Given the description of an element on the screen output the (x, y) to click on. 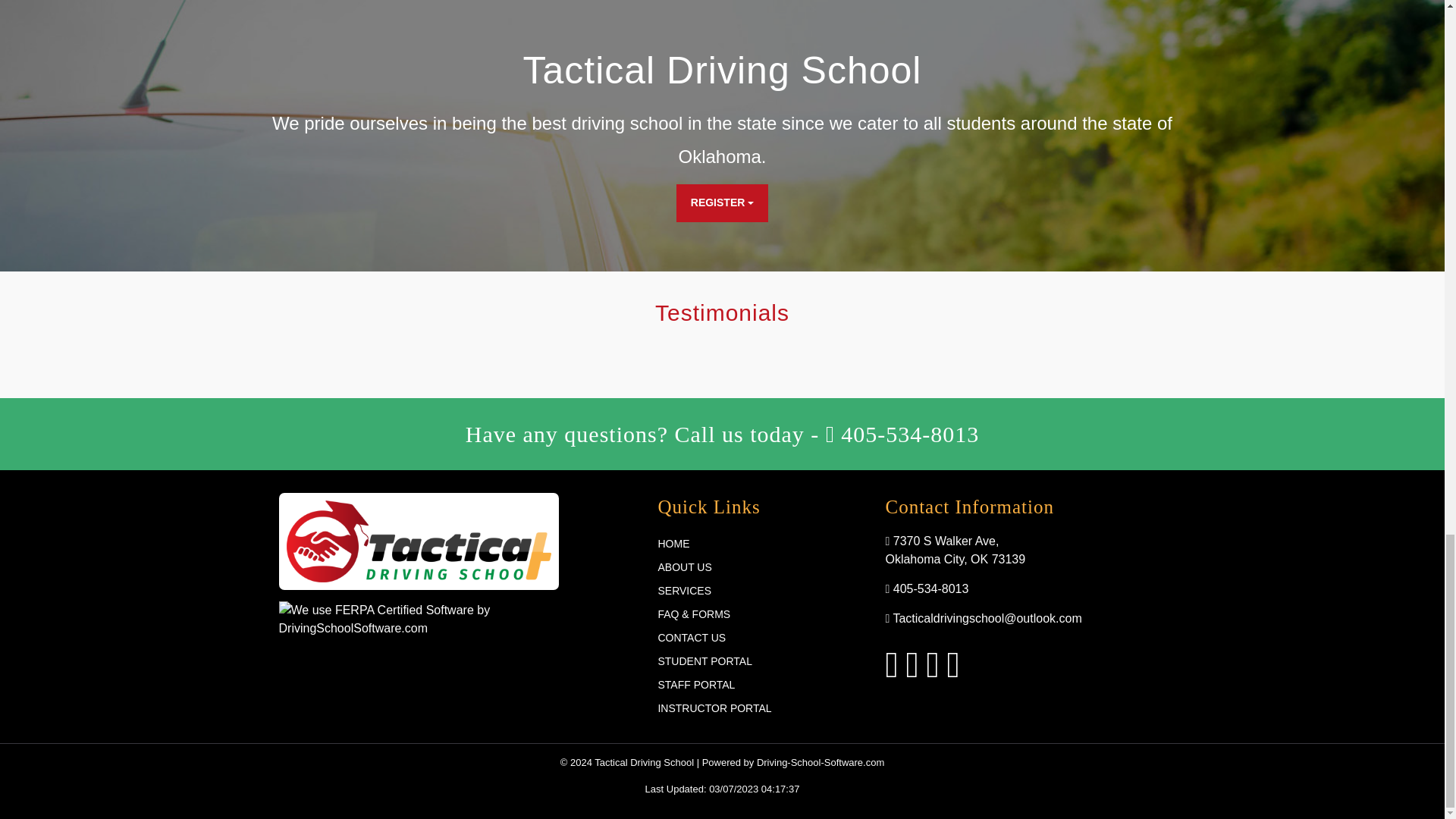
HOME (759, 544)
View On Map (955, 549)
405-534-8013 (901, 433)
We use FERPA Certified Software by DrivingSchoolSoftware.com (419, 619)
Email (983, 617)
Phone (926, 588)
REGISTER (722, 202)
